Given the description of an element on the screen output the (x, y) to click on. 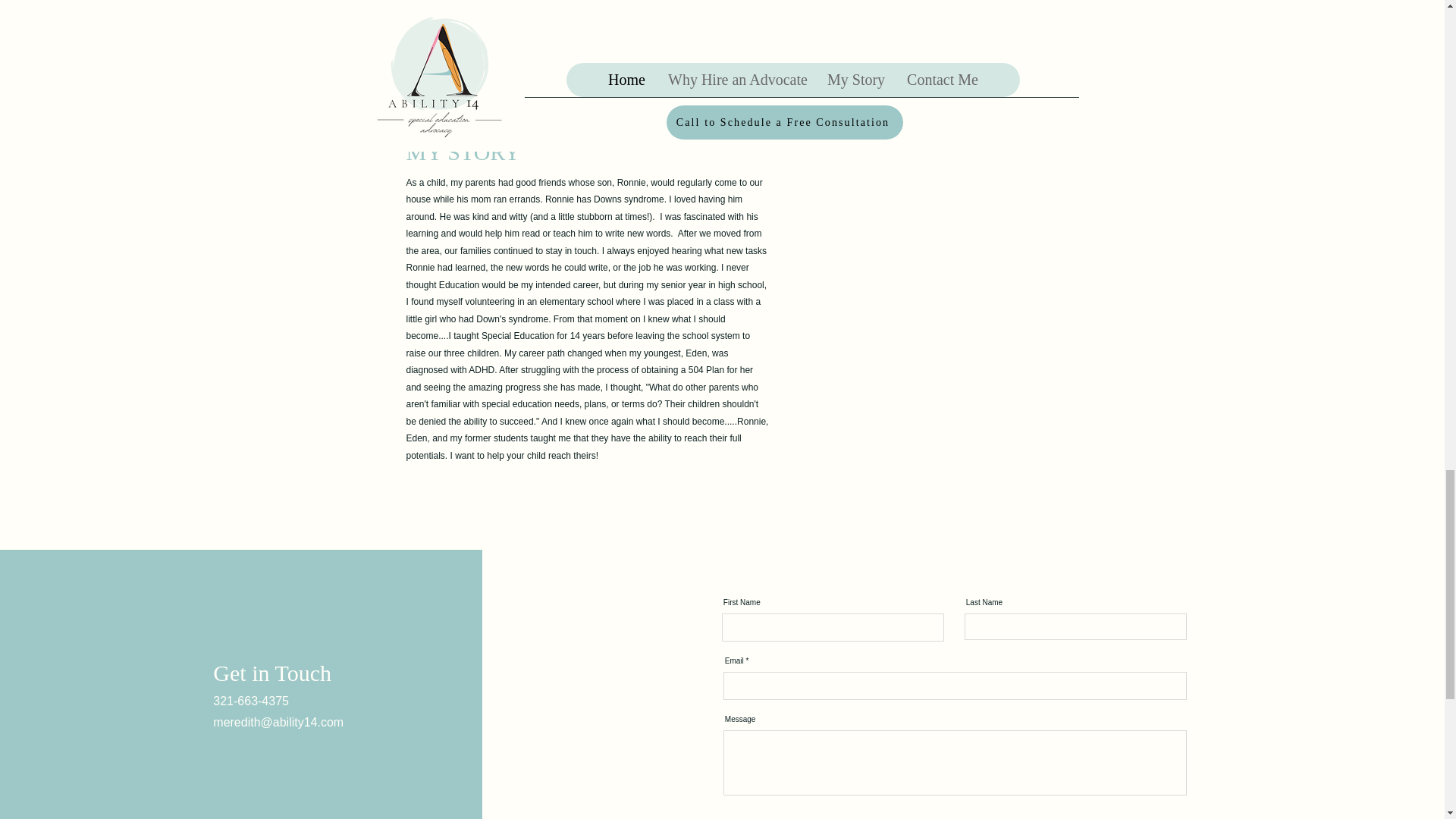
BOOK NOW! (717, 3)
